Given the description of an element on the screen output the (x, y) to click on. 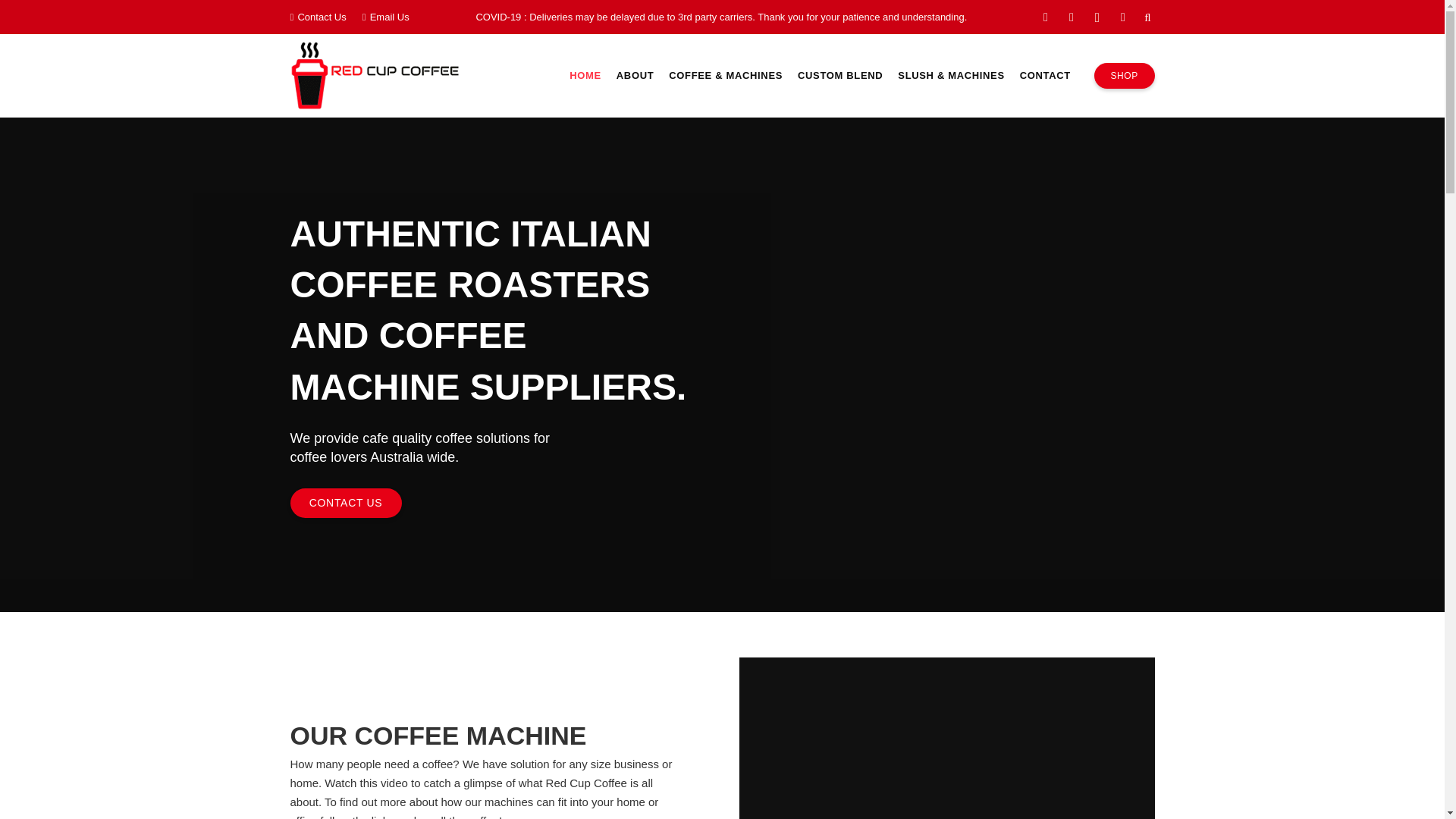
Contact Us (317, 16)
Instagram (1096, 16)
Facebook (1045, 16)
YouTube (1071, 16)
CONTACT US (345, 502)
CUSTOM BLEND (839, 75)
Youtube video player (946, 738)
SHOP (1124, 75)
LinkedIn (1122, 16)
Email Us (385, 16)
